Given the description of an element on the screen output the (x, y) to click on. 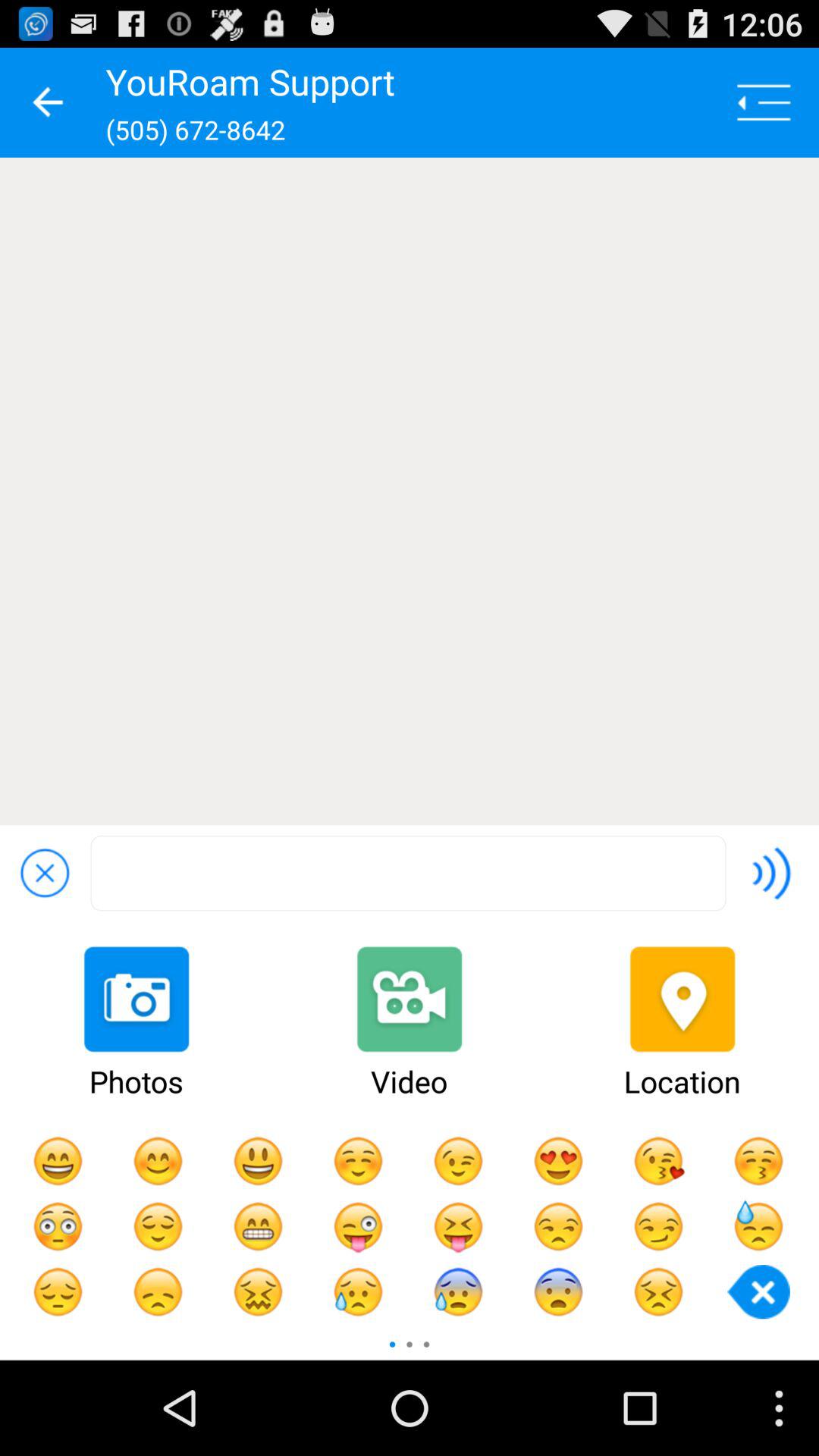
open search box (408, 873)
